Given the description of an element on the screen output the (x, y) to click on. 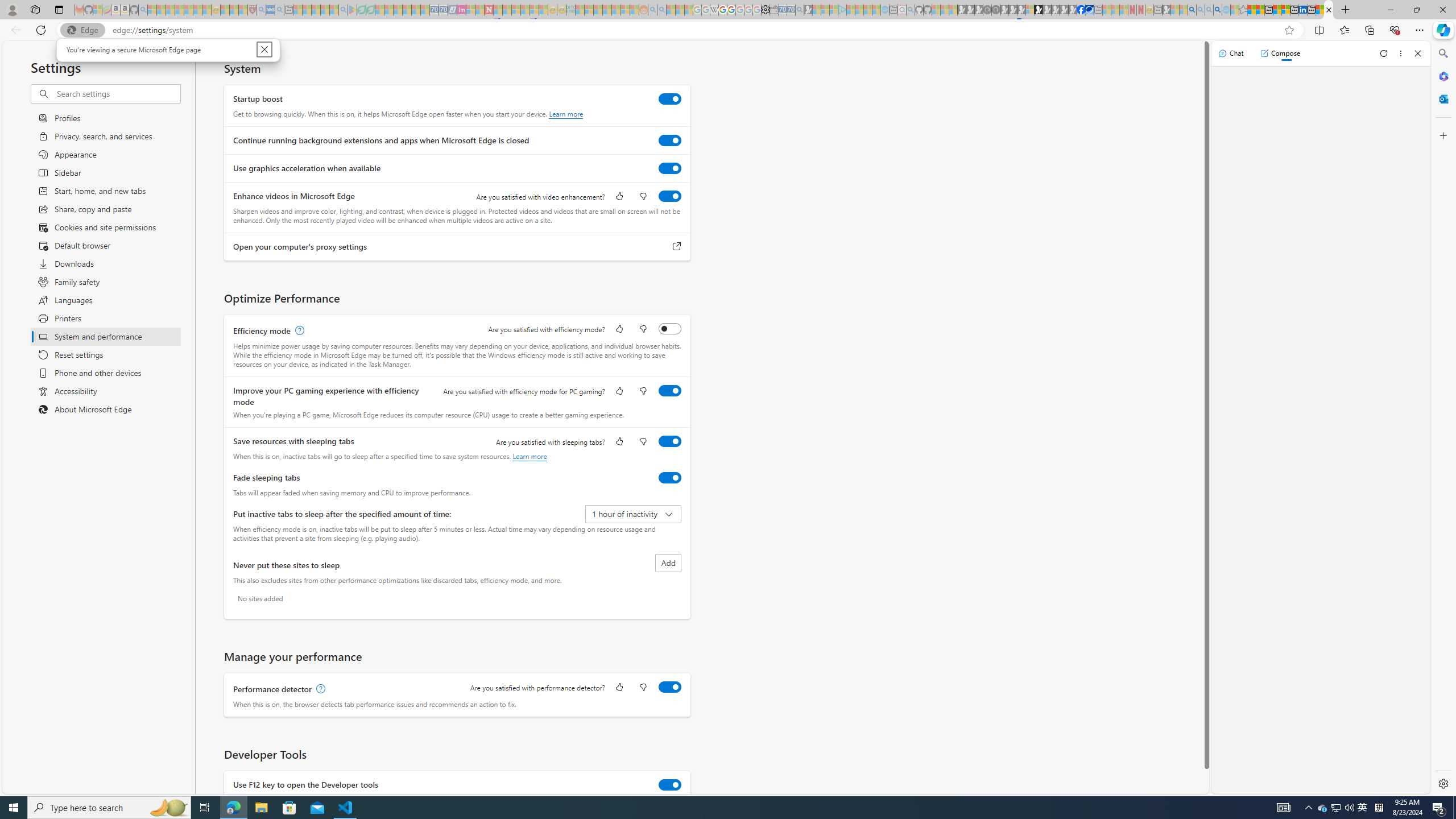
User Promoted Notification Area (1336, 807)
Performance detector (669, 686)
Q2790: 100% (1349, 807)
